Given the description of an element on the screen output the (x, y) to click on. 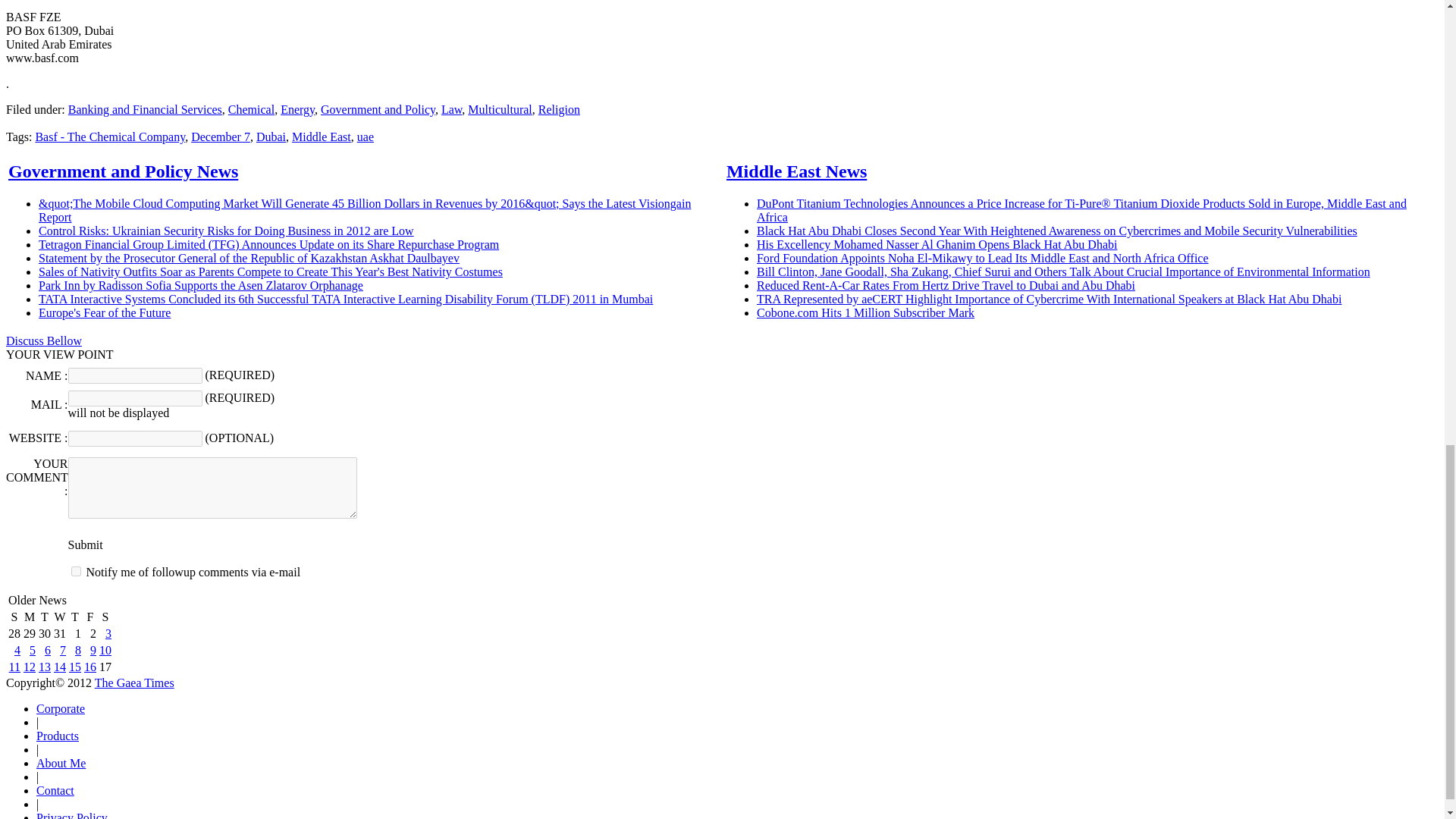
Law (451, 109)
Religion (558, 109)
Chemical (251, 109)
Energy (297, 109)
Multicultural (499, 109)
Government and Policy (377, 109)
Banking and Financial Services (145, 109)
Basf - The Chemical Company (109, 136)
subscribe (76, 571)
